Given the description of an element on the screen output the (x, y) to click on. 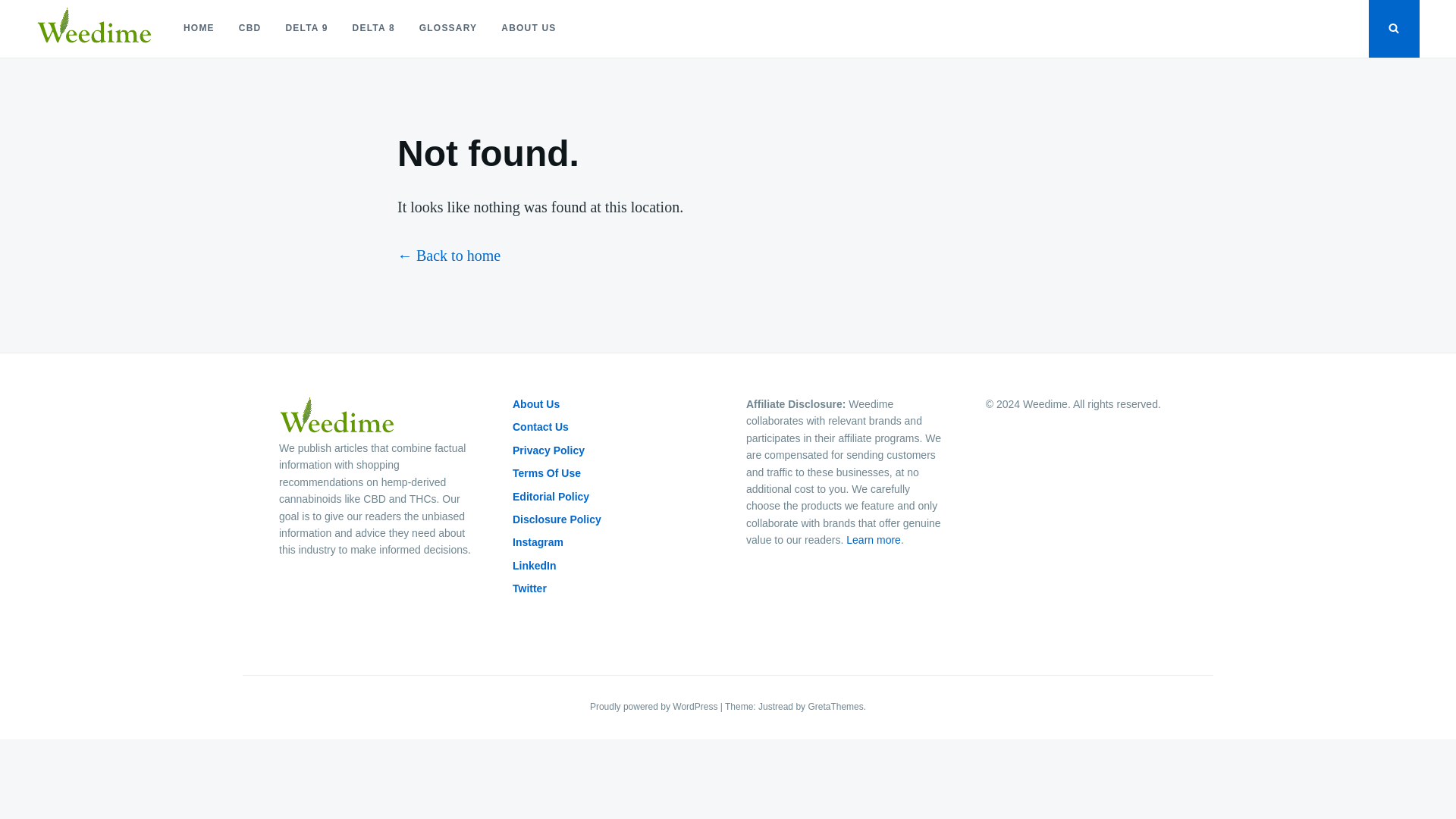
LinkedIn (534, 565)
Twitter (529, 588)
About Us (535, 404)
Learn more (873, 539)
GretaThemes (835, 706)
Contact Us (540, 426)
Weedime (76, 62)
DELTA 9 (306, 28)
Editorial Policy (550, 496)
Disclosure Policy (556, 519)
ABOUT US (528, 28)
DELTA 8 (373, 28)
Proudly powered by WordPress (654, 706)
CBD (250, 28)
HOME (199, 28)
